Given the description of an element on the screen output the (x, y) to click on. 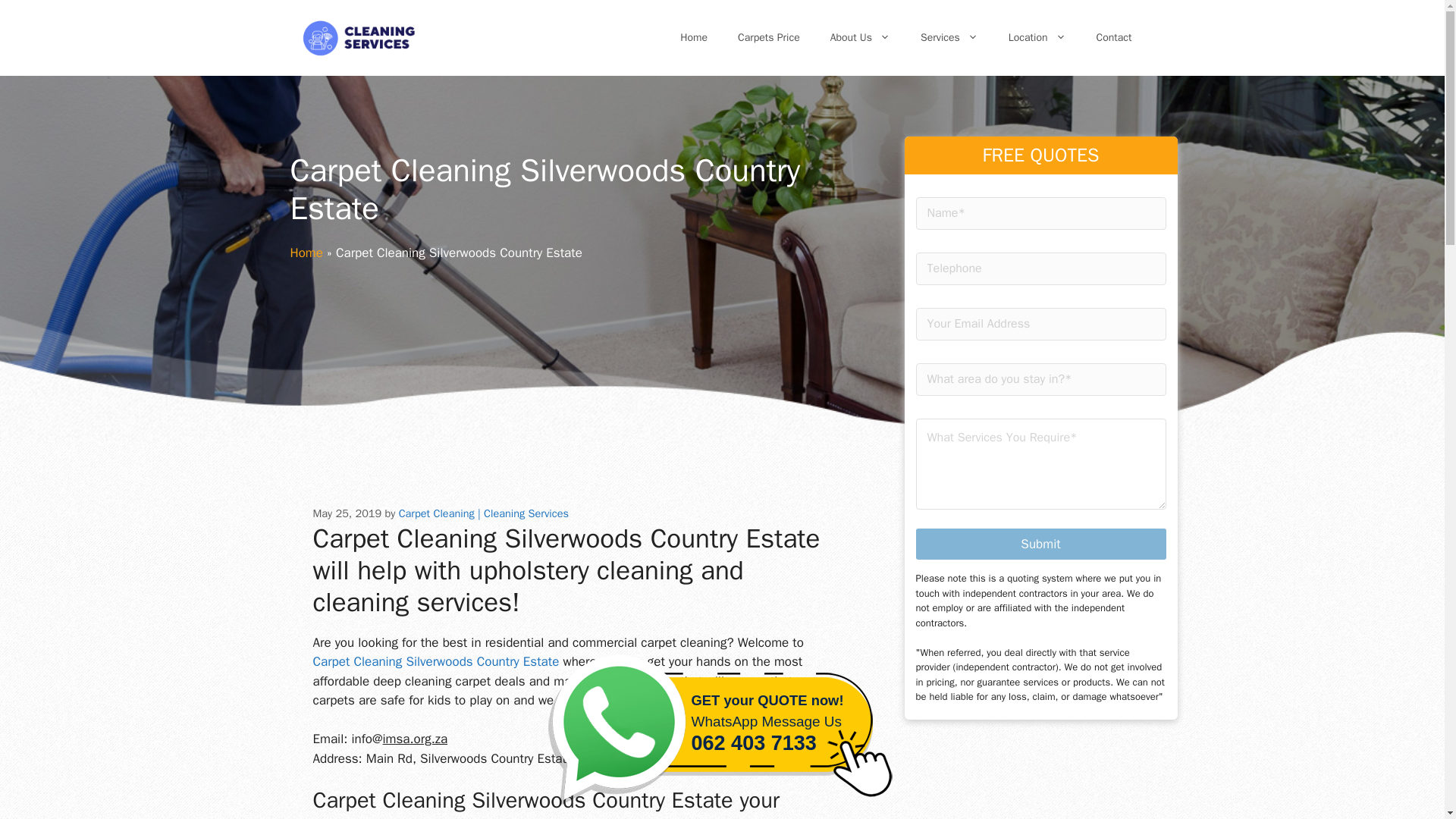
Submit (1040, 543)
Location (1036, 37)
Home (305, 252)
Services (721, 732)
Home (948, 37)
Carpets Price (693, 37)
Carpet Cleaning Silverwoods Country Estate (768, 37)
About Us (436, 661)
Contact (860, 37)
